Given the description of an element on the screen output the (x, y) to click on. 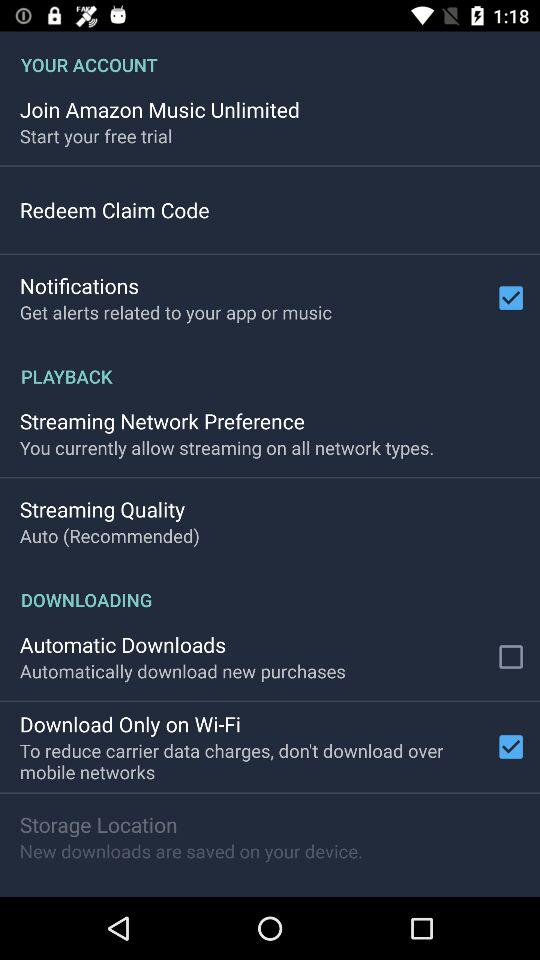
choose start your free app (95, 135)
